Given the description of an element on the screen output the (x, y) to click on. 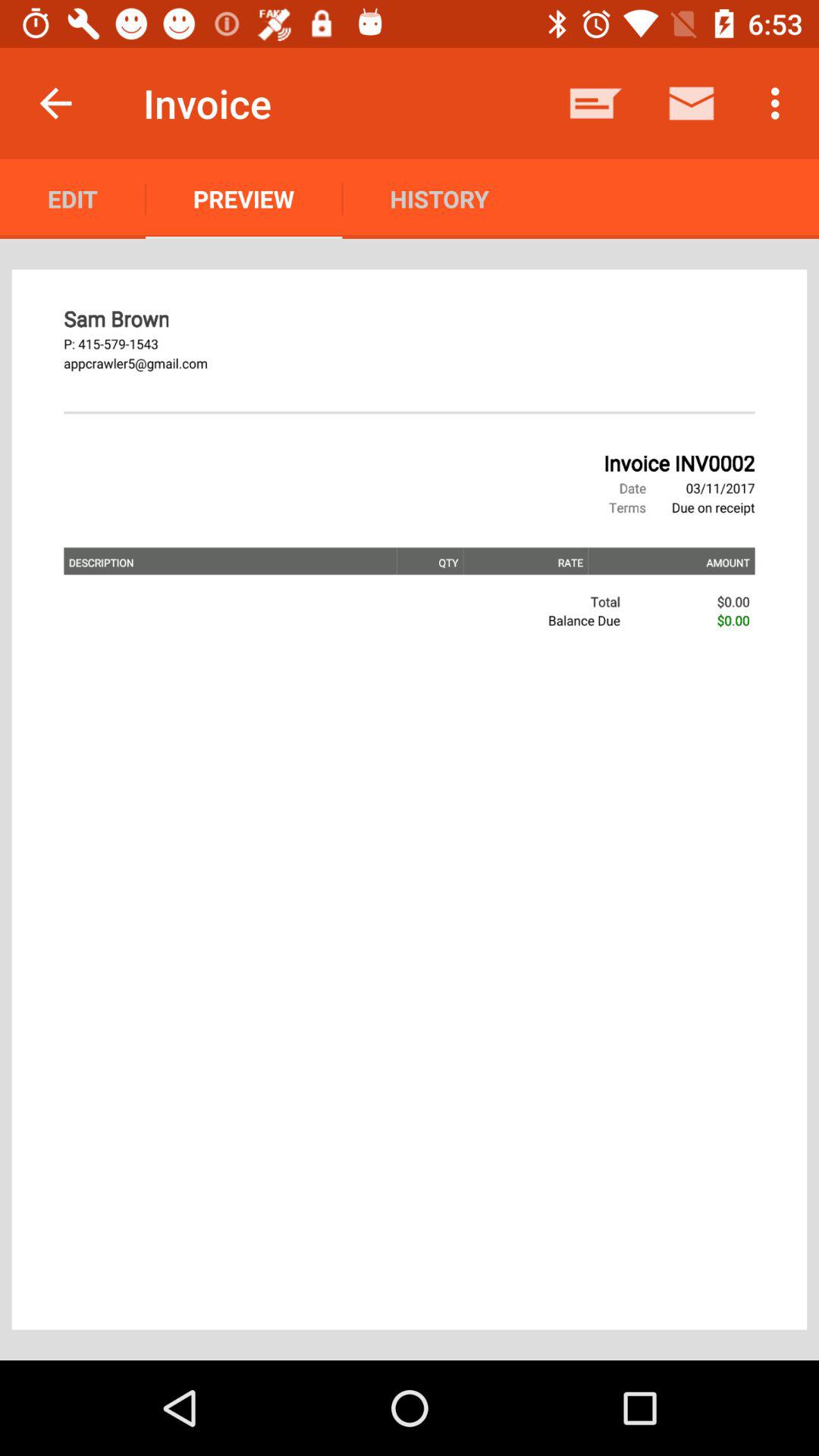
turn off the app to the left of the preview (72, 198)
